Given the description of an element on the screen output the (x, y) to click on. 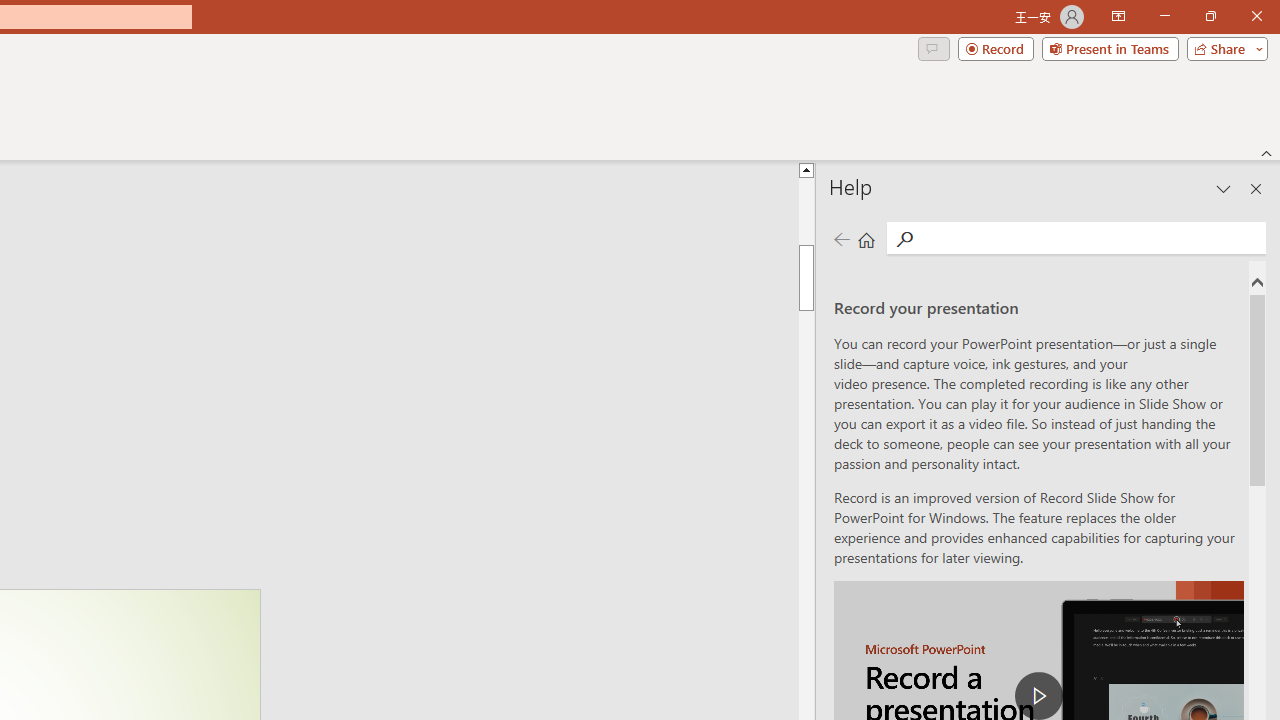
Previous page (841, 238)
play Record a Presentation (1038, 695)
